Given the description of an element on the screen output the (x, y) to click on. 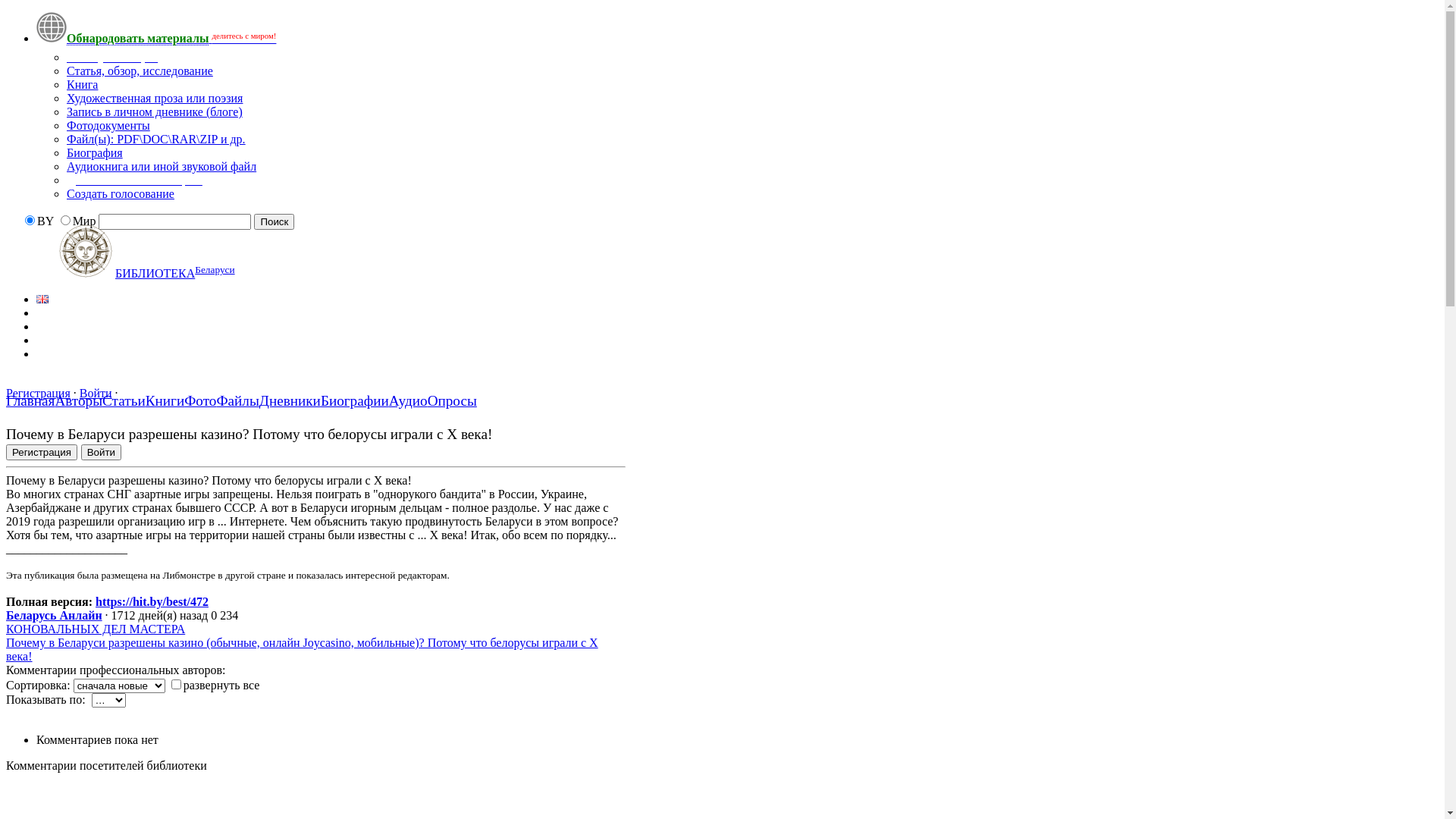
https://hit.by/best/472 Element type: text (151, 601)
Switch to English Element type: hover (42, 298)
on Element type: text (176, 684)
